Given the description of an element on the screen output the (x, y) to click on. 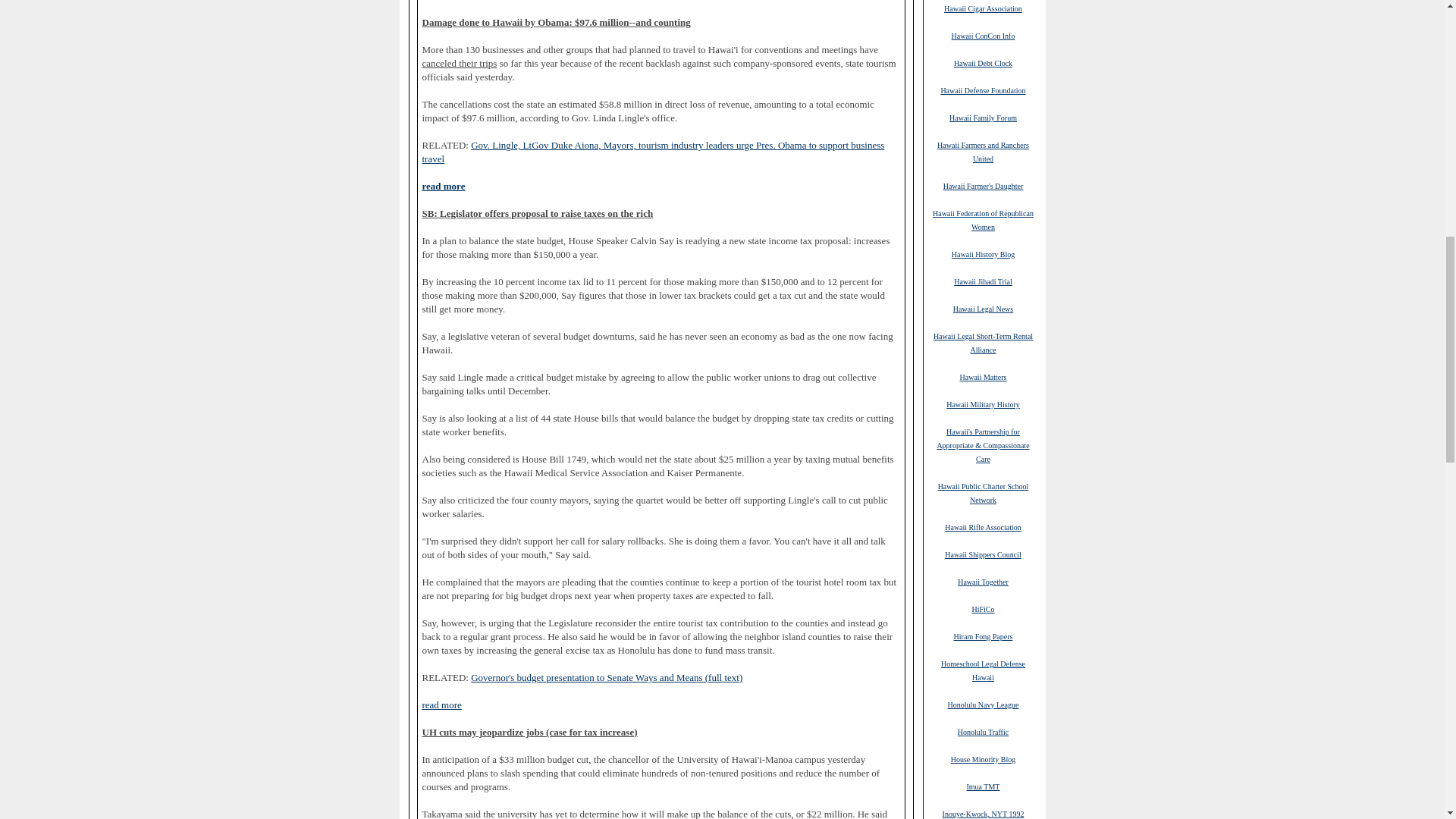
read more (441, 705)
read more (443, 185)
